Given the description of an element on the screen output the (x, y) to click on. 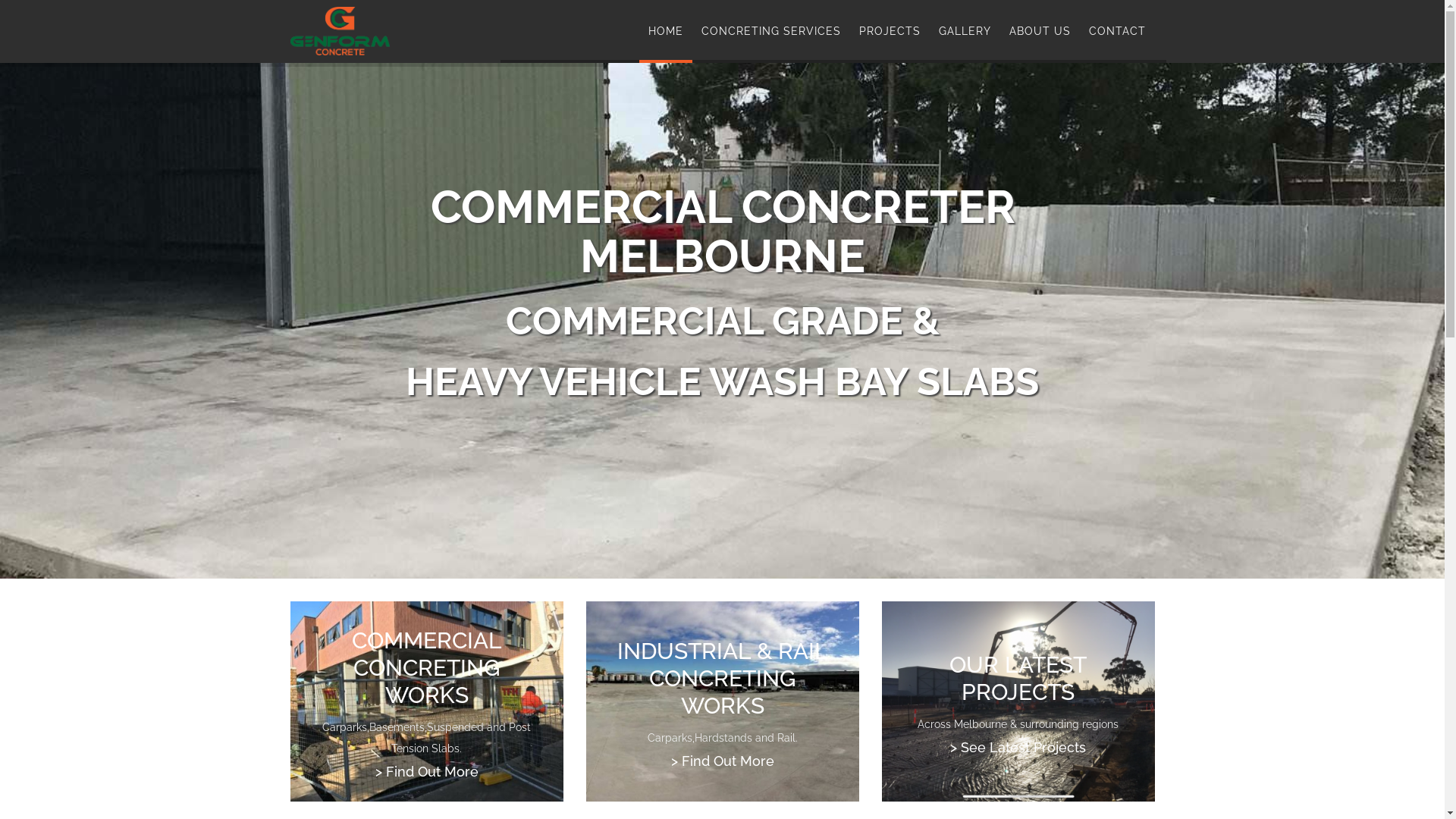
> Find Out More Element type: text (425, 771)
> See Latest Projects Element type: text (1017, 747)
> Find Out More Element type: text (721, 760)
